Given the description of an element on the screen output the (x, y) to click on. 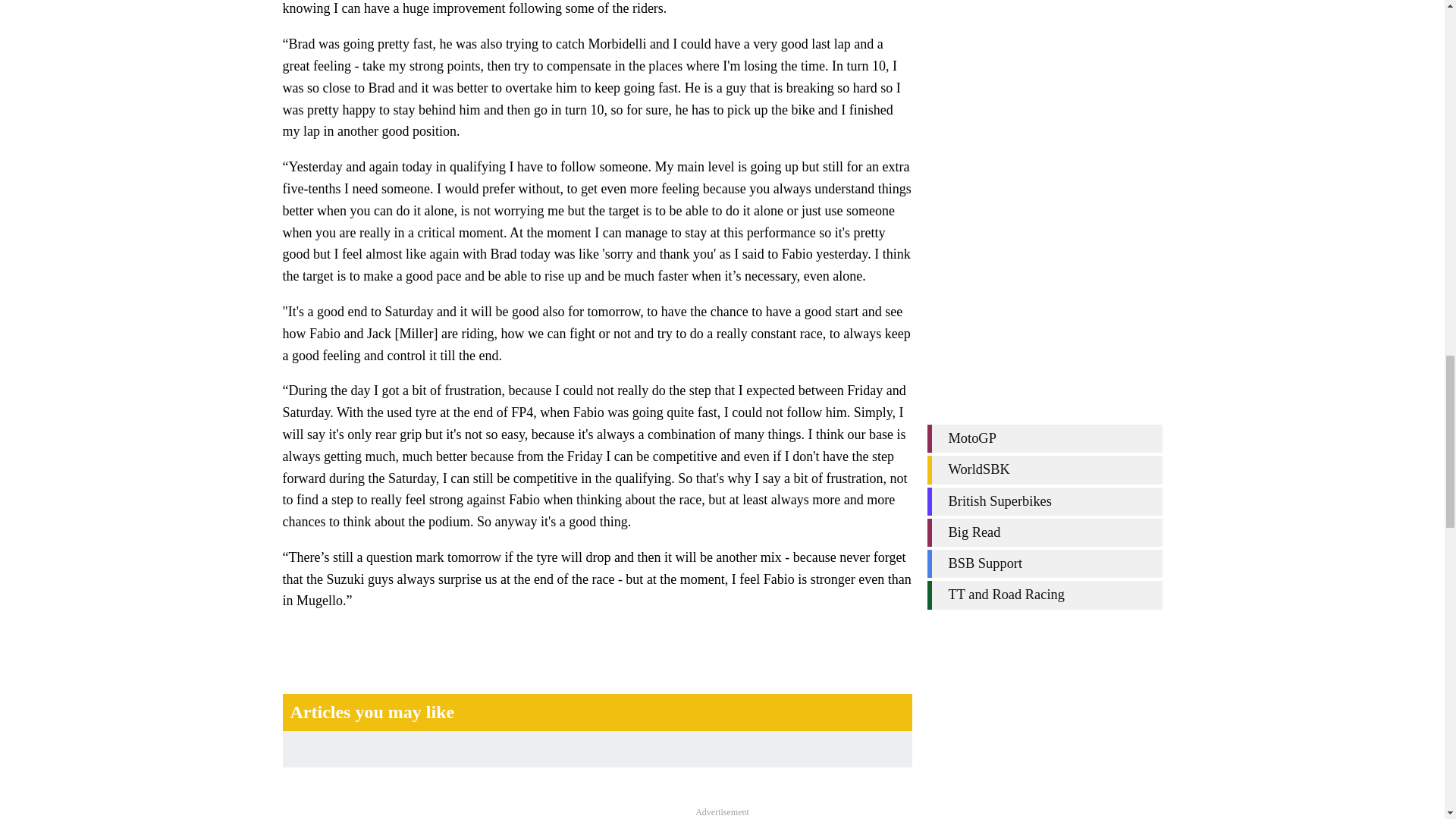
British Superbikes (1043, 18)
TT and Road Racing (1043, 111)
Big Read (1043, 49)
BSB Support (1043, 80)
